Given the description of an element on the screen output the (x, y) to click on. 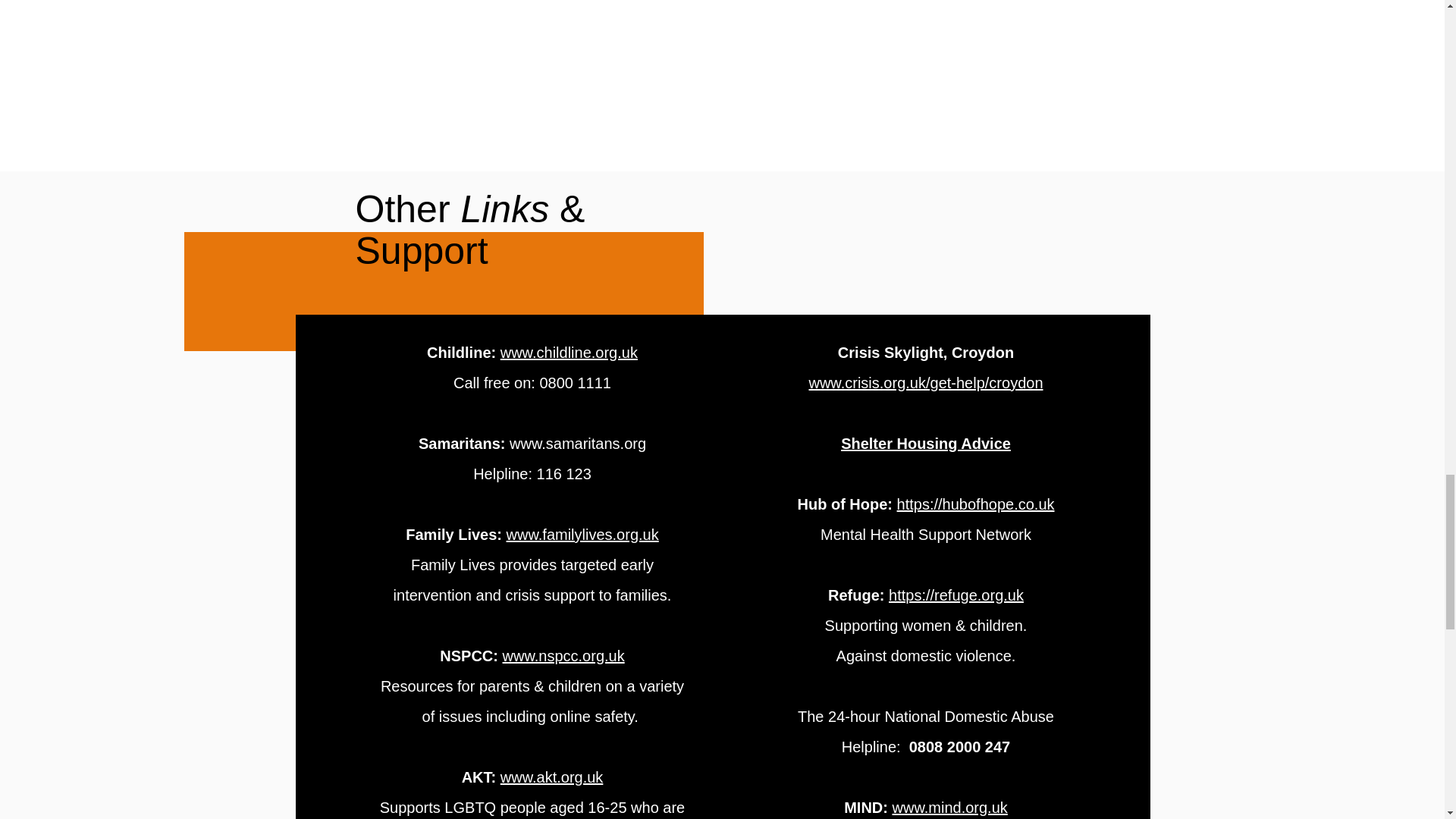
Shelter Housing Advice (925, 443)
www.akt.org.uk (552, 777)
www.nspcc.org.uk (563, 655)
www.samaritans.org (577, 443)
www.mind.org.uk (949, 807)
www.childline.org.uk (568, 352)
www.familylives.org.uk (582, 534)
